Given the description of an element on the screen output the (x, y) to click on. 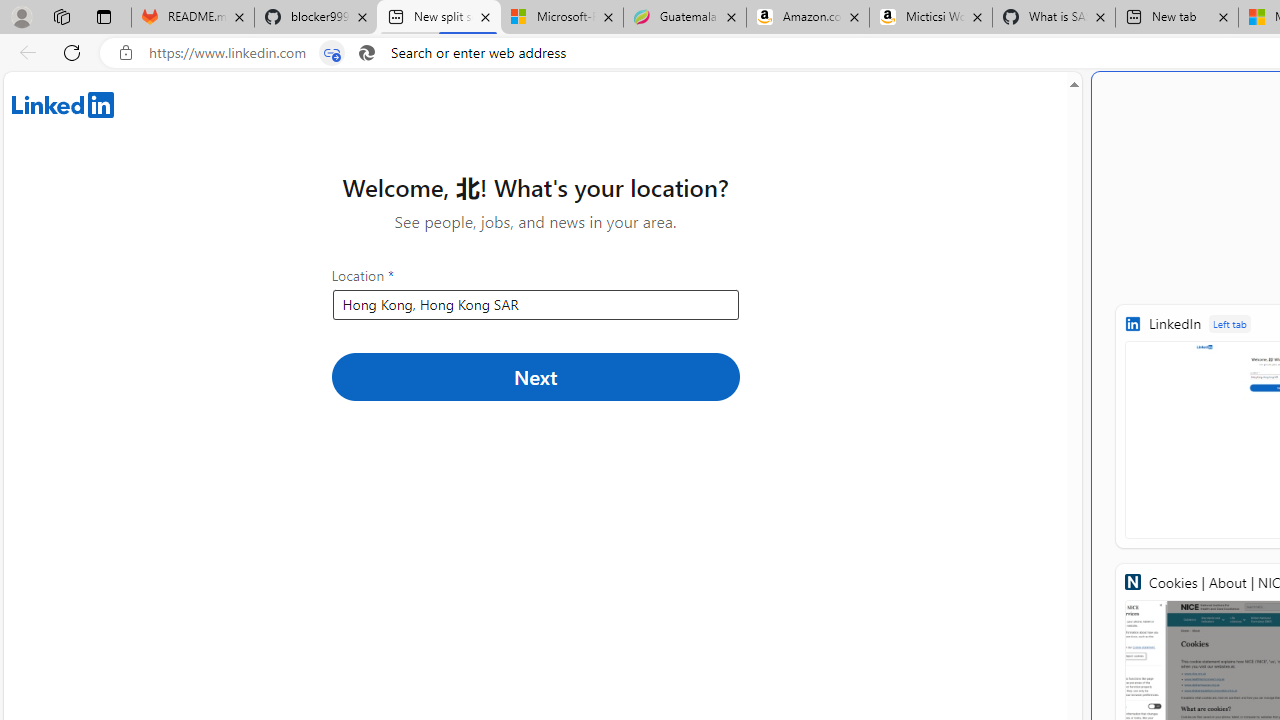
New split screen (438, 17)
Search icon (366, 53)
